Given the description of an element on the screen output the (x, y) to click on. 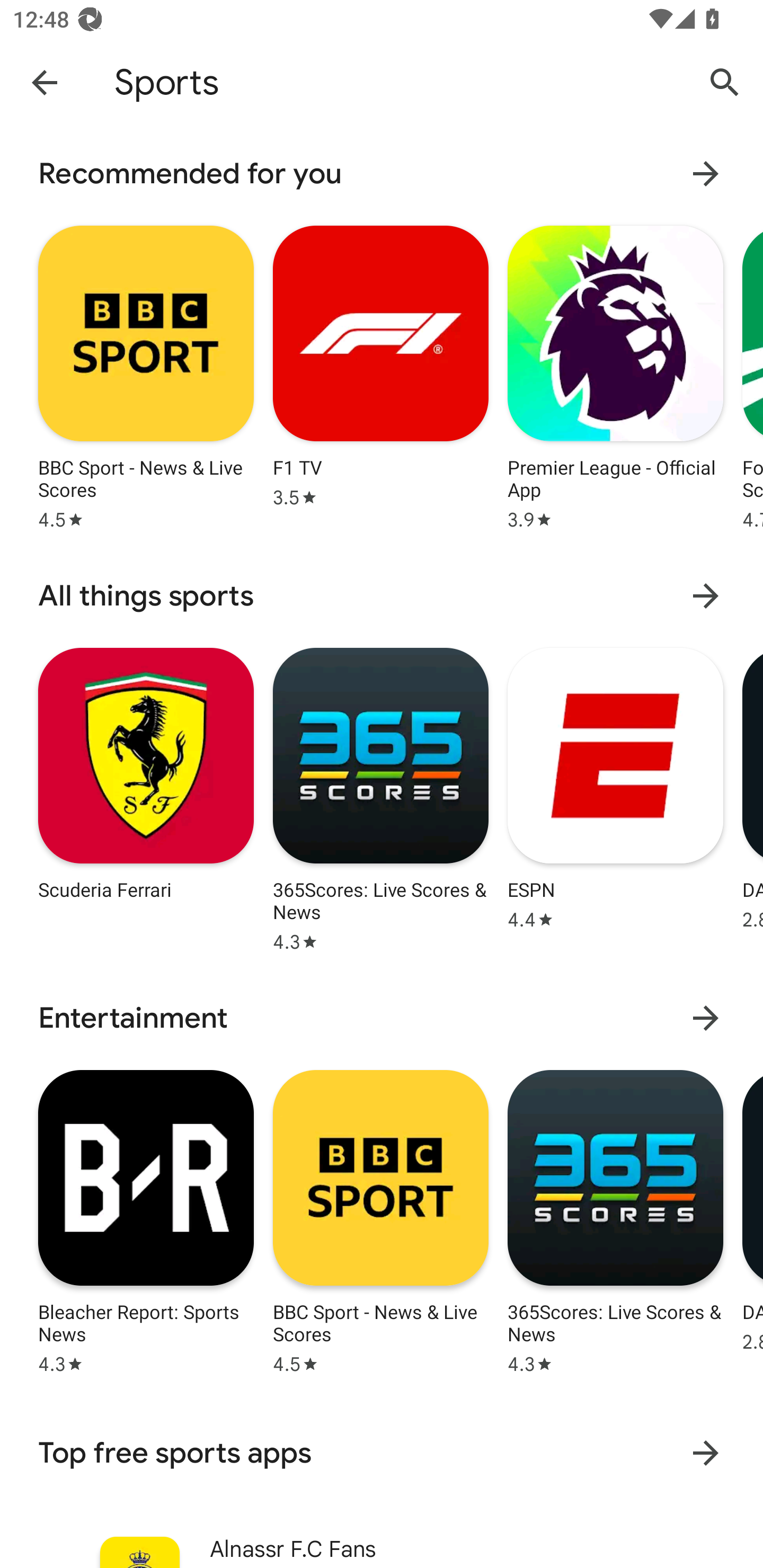
Navigate up (44, 81)
Search Google Play (724, 81)
More results for Recommended for you (705, 173)
App: F1 TV
Star rating: 3.5


 (380, 375)
More results for All things sports (705, 595)
App: Scuderia Ferrari


 (145, 796)
App: ESPN
Star rating: 4.4


 (615, 796)
Entertainment
 More results for Entertainment (381, 1018)
More results for Entertainment (705, 1017)
More results for Top free sports apps (705, 1453)
1 App: Alnassr F.C Fans
Sports
Star rating: 4.6
 (381, 1540)
